Given the description of an element on the screen output the (x, y) to click on. 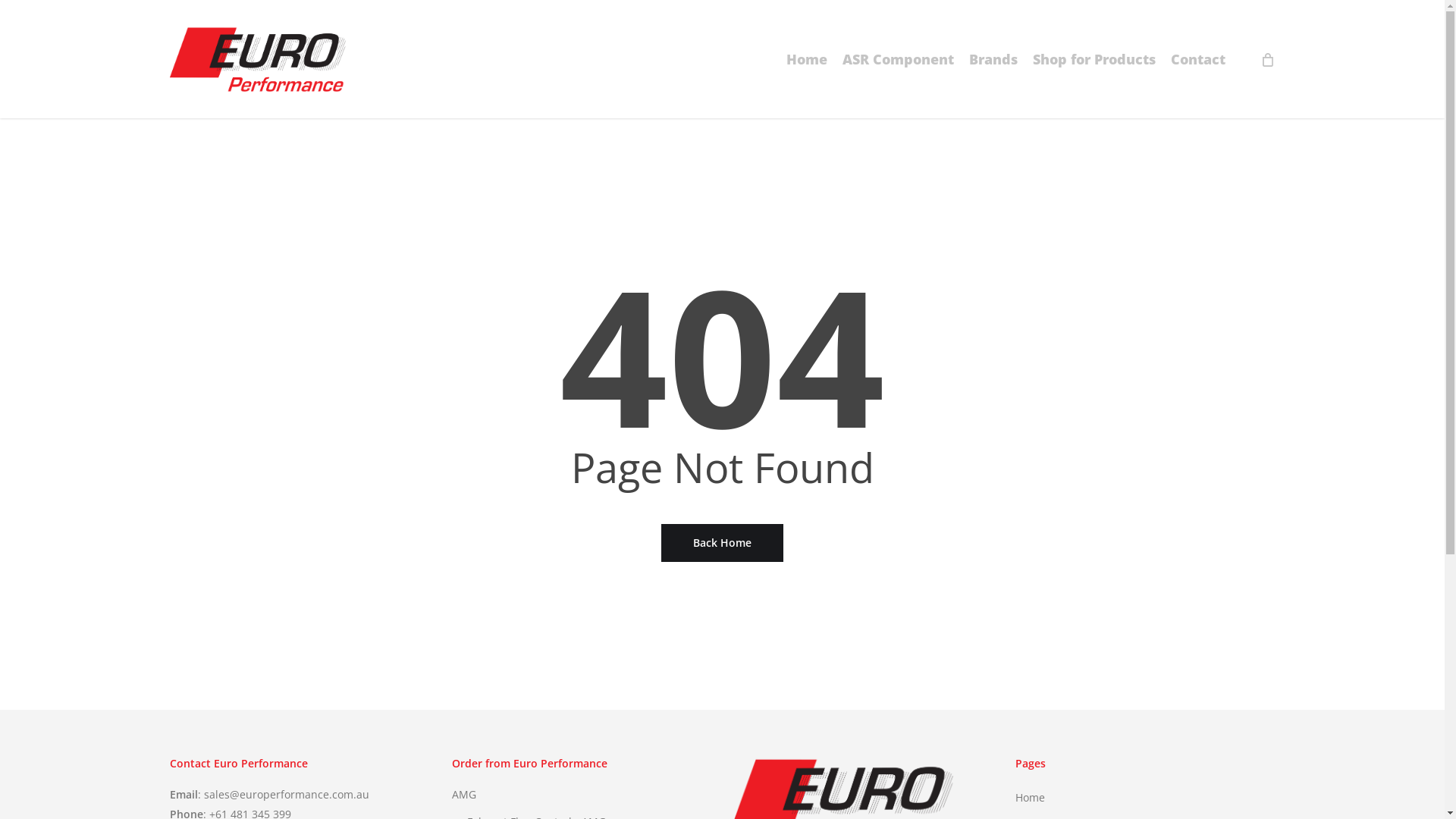
Contact Element type: text (1197, 58)
ASR Component Element type: text (897, 58)
Brands Element type: text (993, 58)
Home Element type: text (1144, 797)
sales@europerformance.com.au Element type: text (286, 794)
Back Home Element type: text (722, 542)
AMG Element type: text (581, 794)
Home Element type: text (806, 58)
Shop for Products Element type: text (1093, 58)
